Given the description of an element on the screen output the (x, y) to click on. 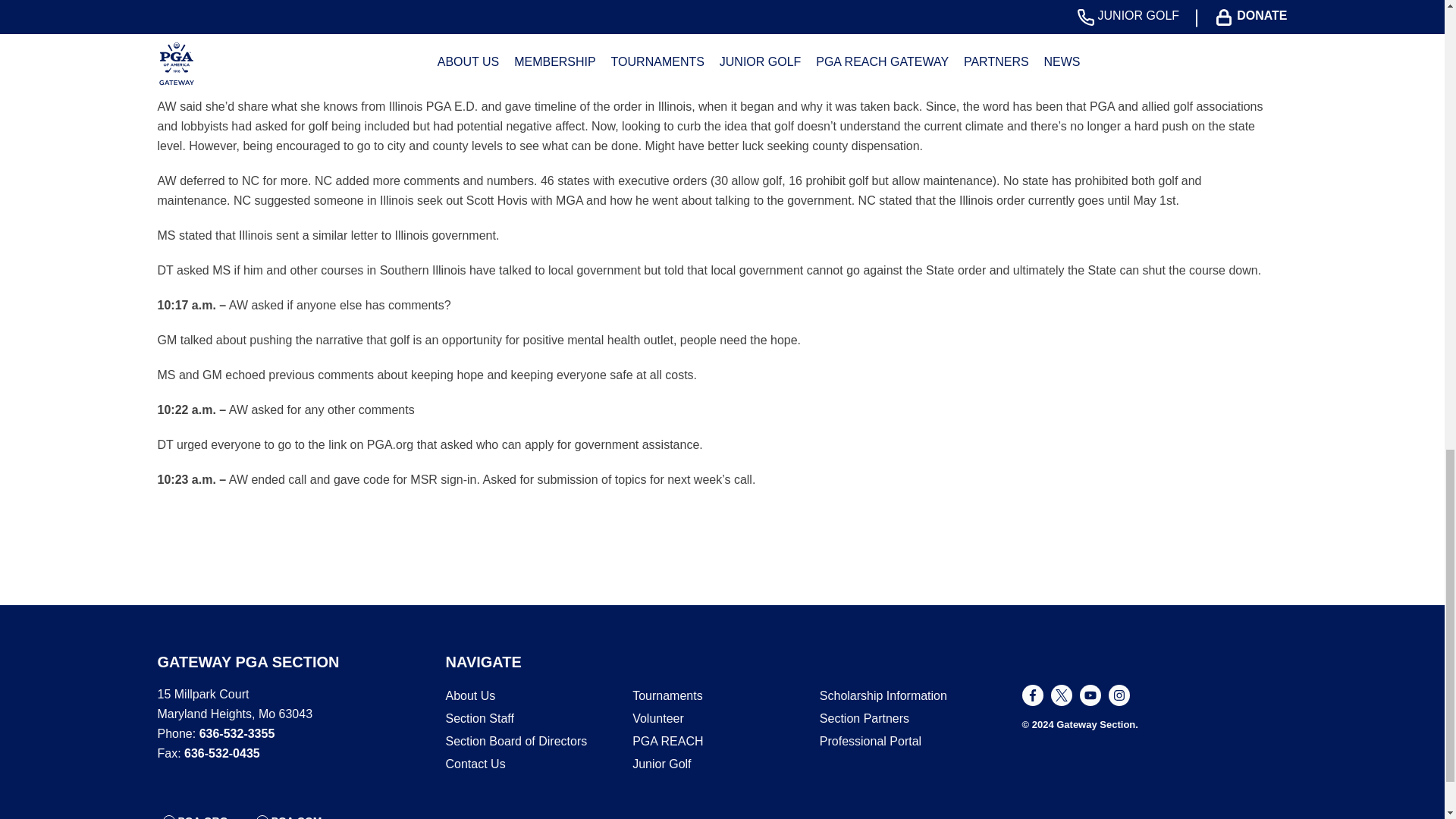
Twitter (1061, 694)
Facebook (1032, 694)
YouTube (1090, 694)
Instagram (1118, 694)
